Given the description of an element on the screen output the (x, y) to click on. 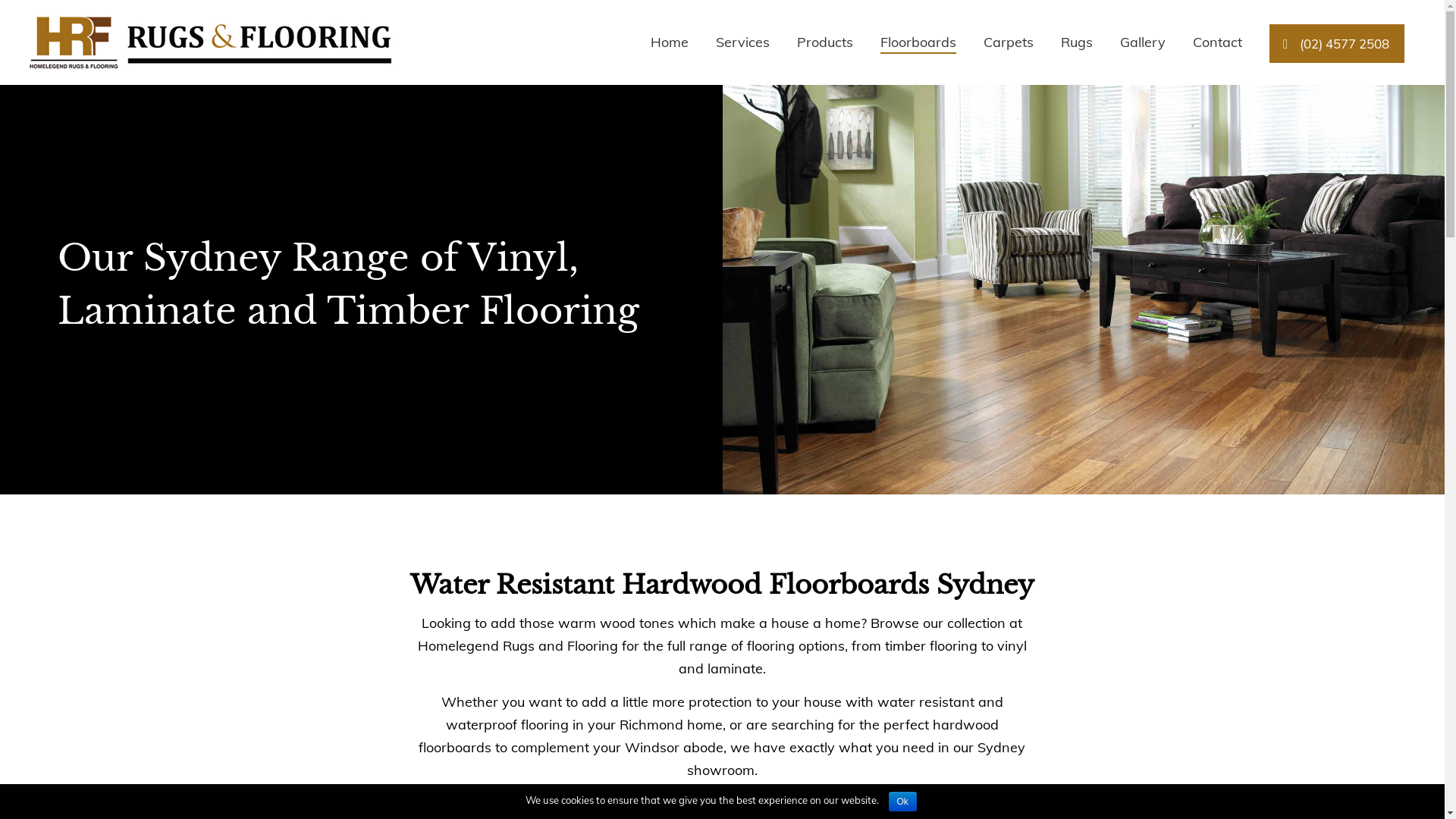
Services Element type: text (742, 41)
Rugs Element type: text (1076, 41)
Ok Element type: text (902, 801)
Floorboards Element type: text (917, 41)
Contact Element type: text (1217, 41)
(02) 4577 2508 Element type: text (1336, 43)
Gallery Element type: text (1142, 41)
Products Element type: text (824, 41)
Carpets Element type: text (1008, 41)
Home Element type: text (669, 41)
